Given the description of an element on the screen output the (x, y) to click on. 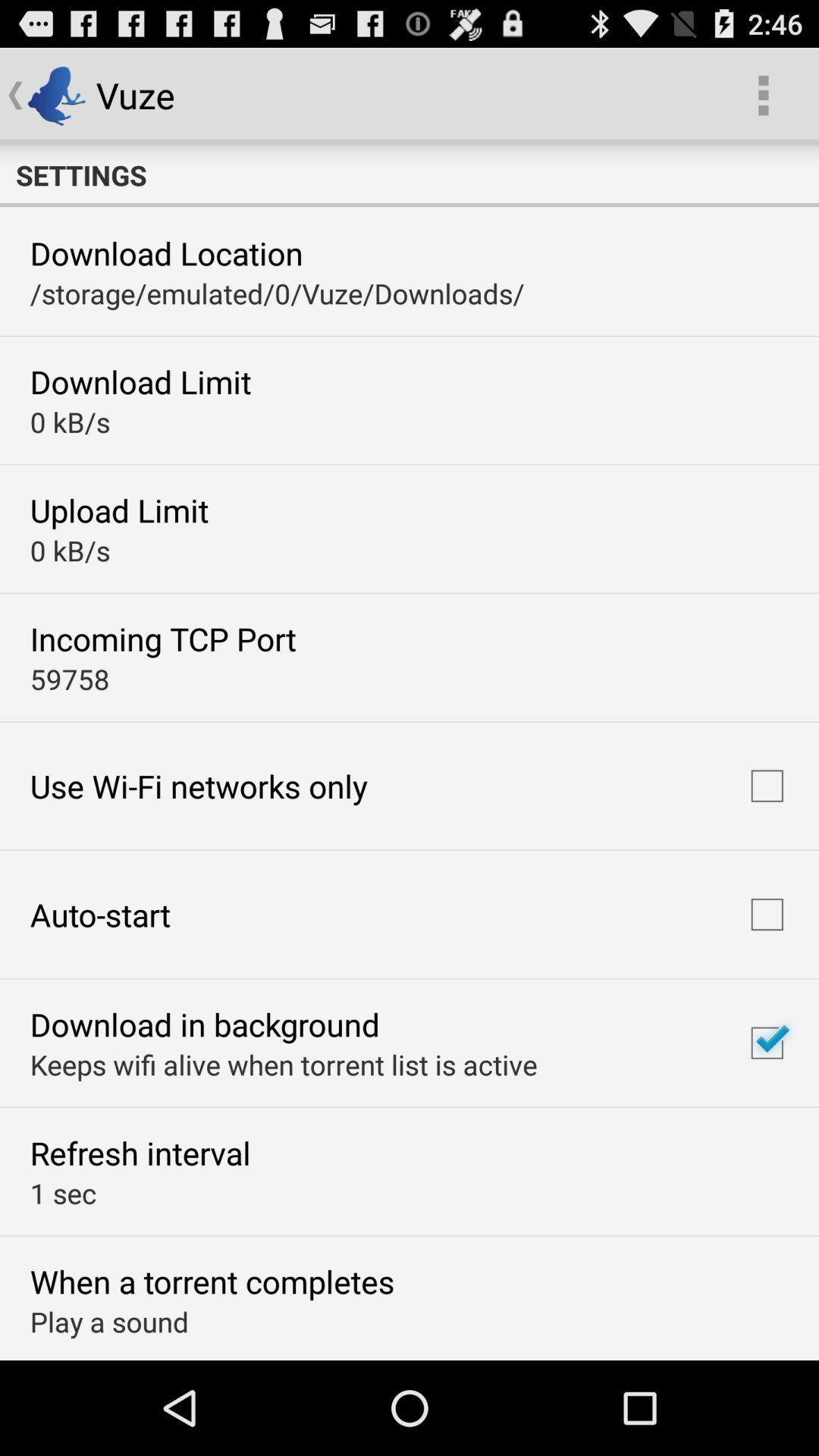
click the item below the 0 kb/s (163, 638)
